Given the description of an element on the screen output the (x, y) to click on. 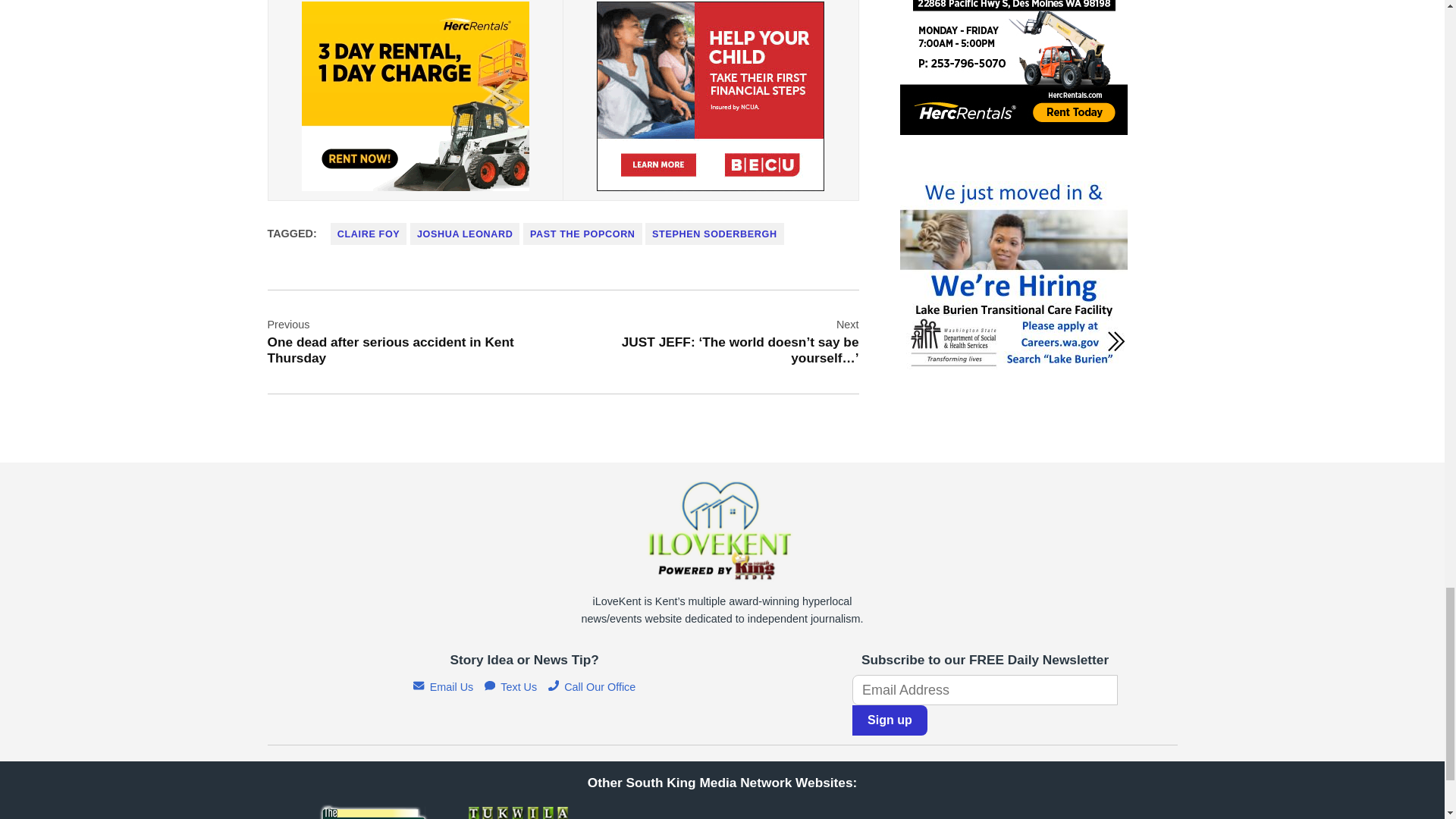
Sign up (889, 720)
